Given the description of an element on the screen output the (x, y) to click on. 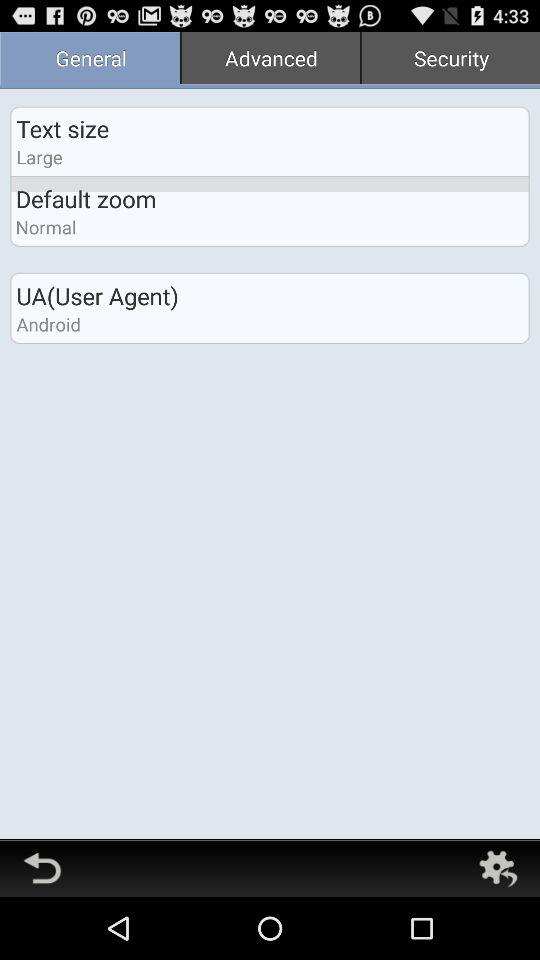
jump until android app (48, 323)
